Given the description of an element on the screen output the (x, y) to click on. 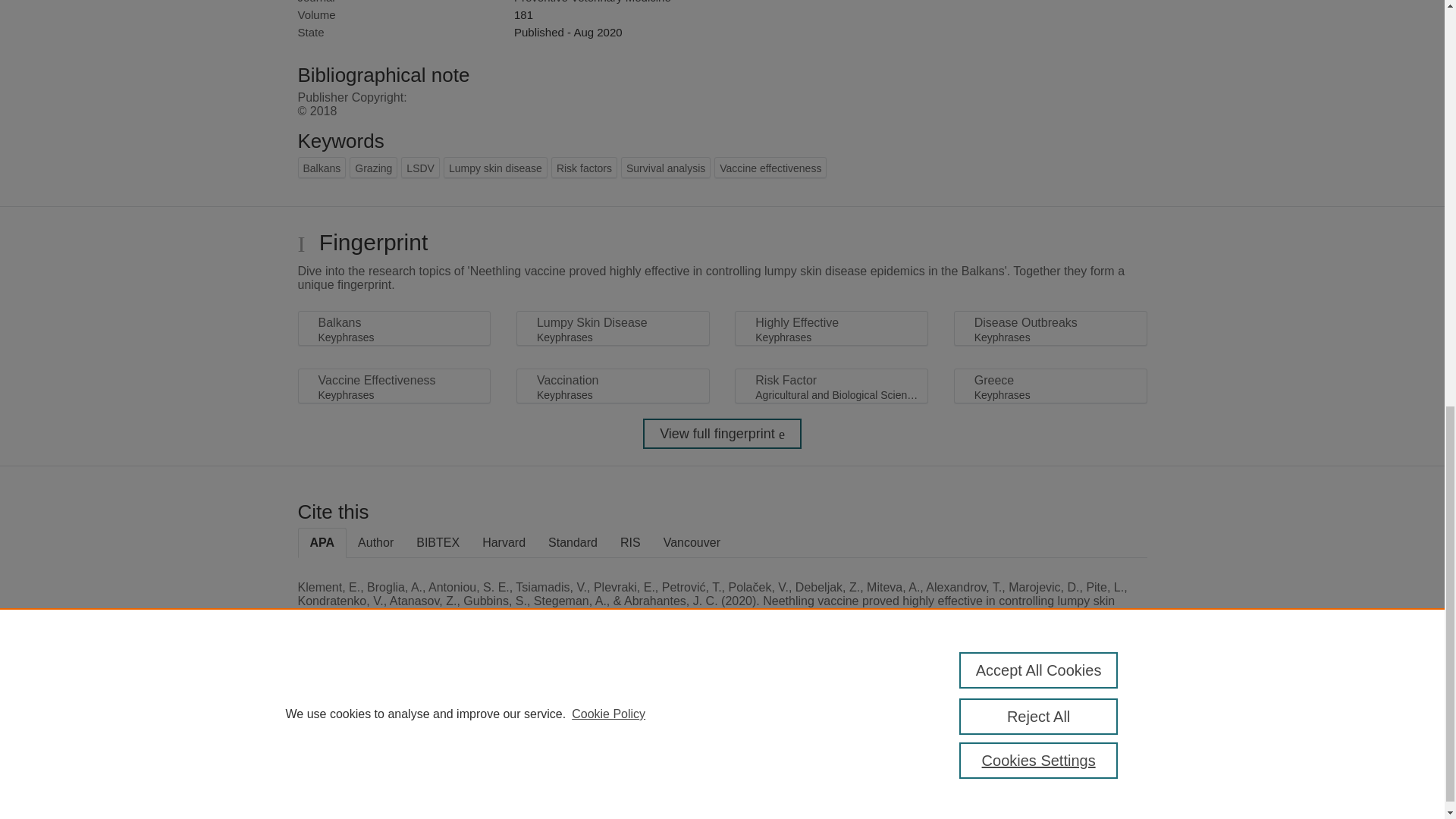
use of cookies (796, 772)
Report vulnerability (1088, 757)
Cookies Settings (334, 793)
Scopus (394, 720)
About web accessibility (1088, 725)
Pure (362, 720)
Elsevier B.V. (506, 740)
Preventive Veterinary Medicine (592, 2)
View full fingerprint (722, 433)
